Given the description of an element on the screen output the (x, y) to click on. 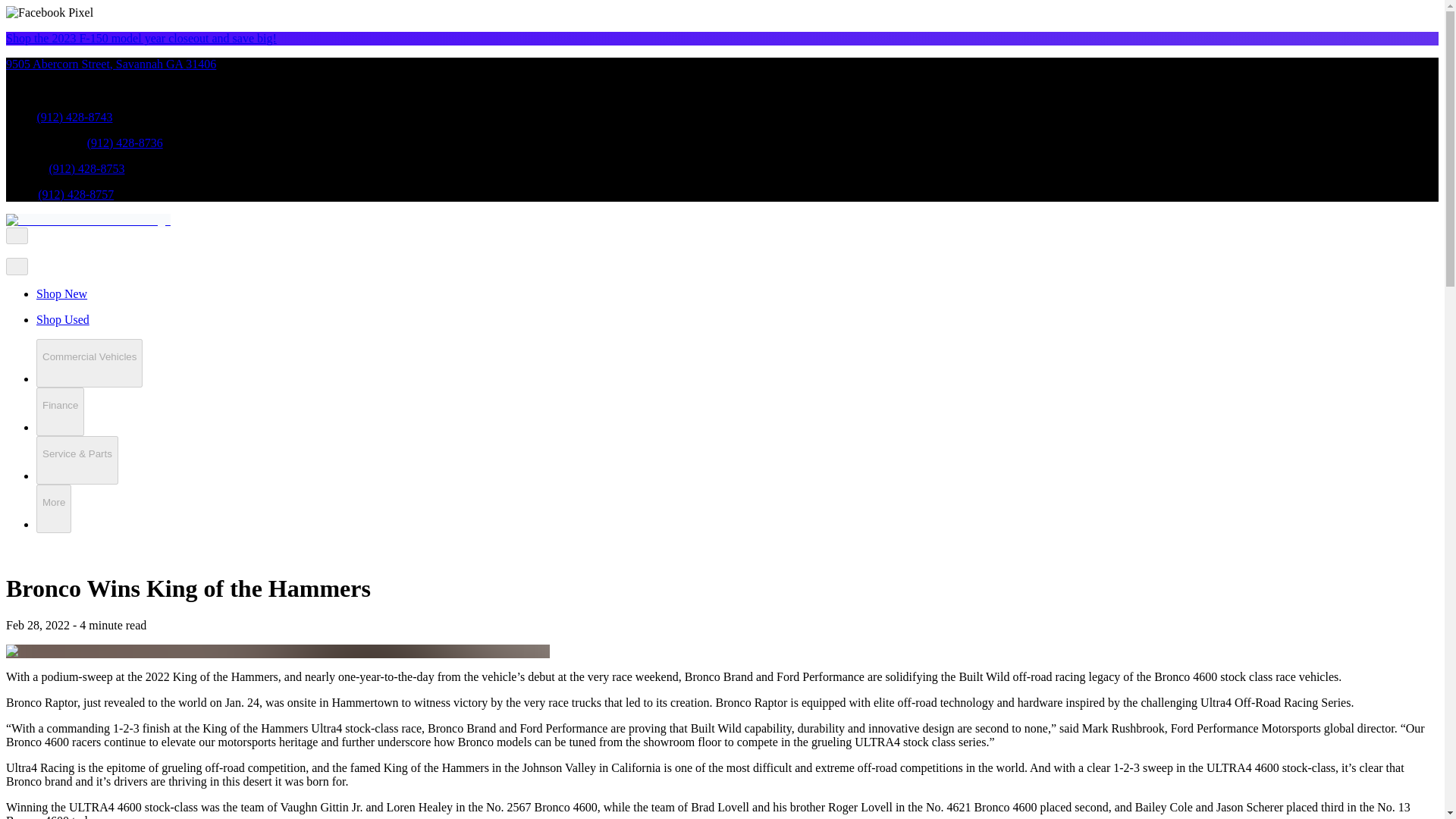
Shop the 2023 F-150 model year closeout and save big! (140, 38)
Commercial Vehicles (89, 363)
Finance (60, 411)
More (53, 508)
